Given the description of an element on the screen output the (x, y) to click on. 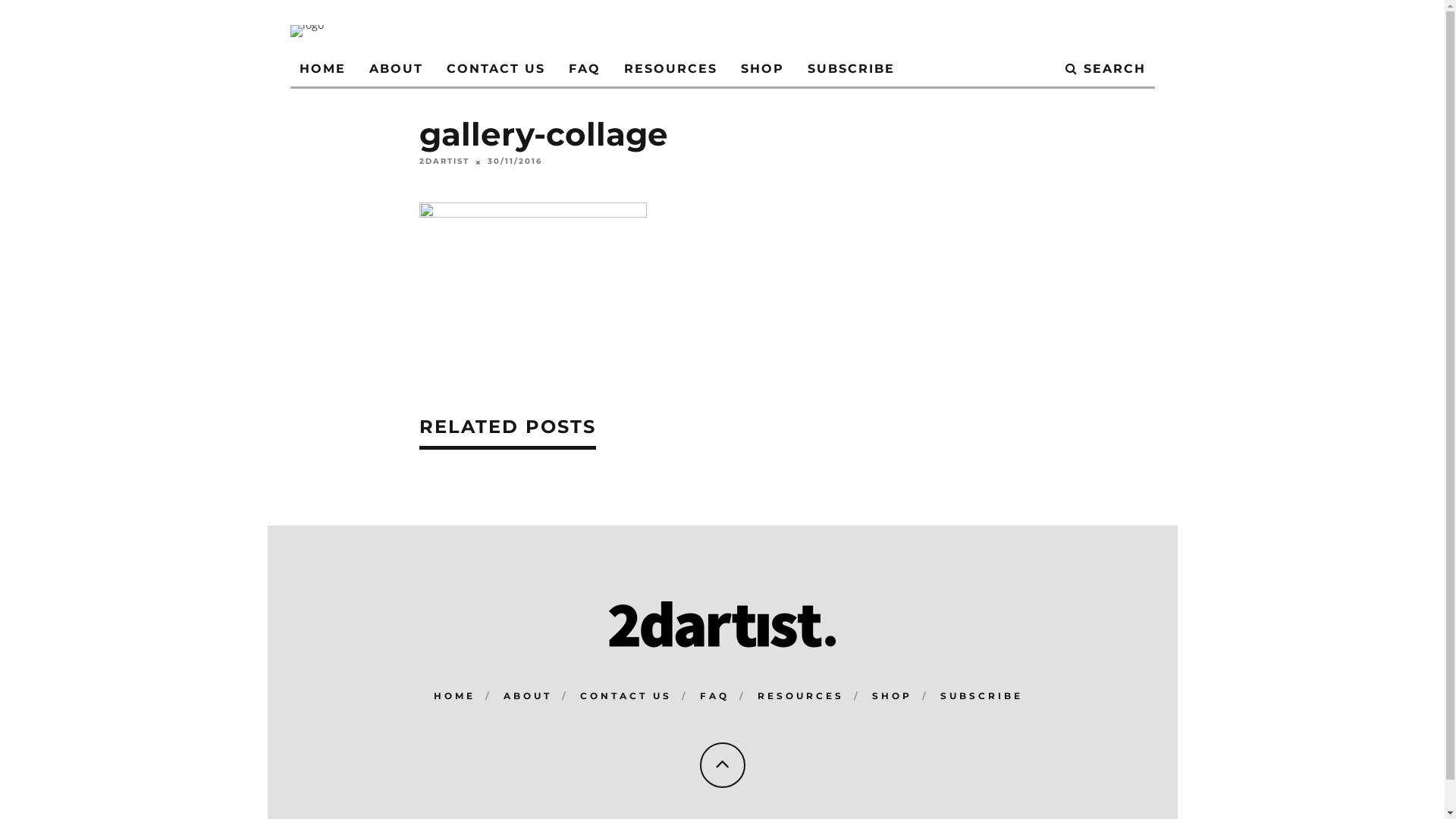
HOME Element type: text (321, 69)
RESOURCES Element type: text (799, 695)
SEARCH Element type: text (1104, 69)
FAQ Element type: text (584, 69)
2DARTIST Element type: text (443, 161)
CONTACT US Element type: text (625, 695)
RESOURCES Element type: text (669, 69)
CONTACT US Element type: text (494, 69)
SUBSCRIBE Element type: text (981, 695)
ABOUT Element type: text (527, 695)
SHOP Element type: text (761, 69)
SUBSCRIBE Element type: text (850, 69)
ABOUT Element type: text (395, 69)
HOME Element type: text (454, 695)
SHOP Element type: text (892, 695)
FAQ Element type: text (713, 695)
Log In Element type: text (722, 445)
